Given the description of an element on the screen output the (x, y) to click on. 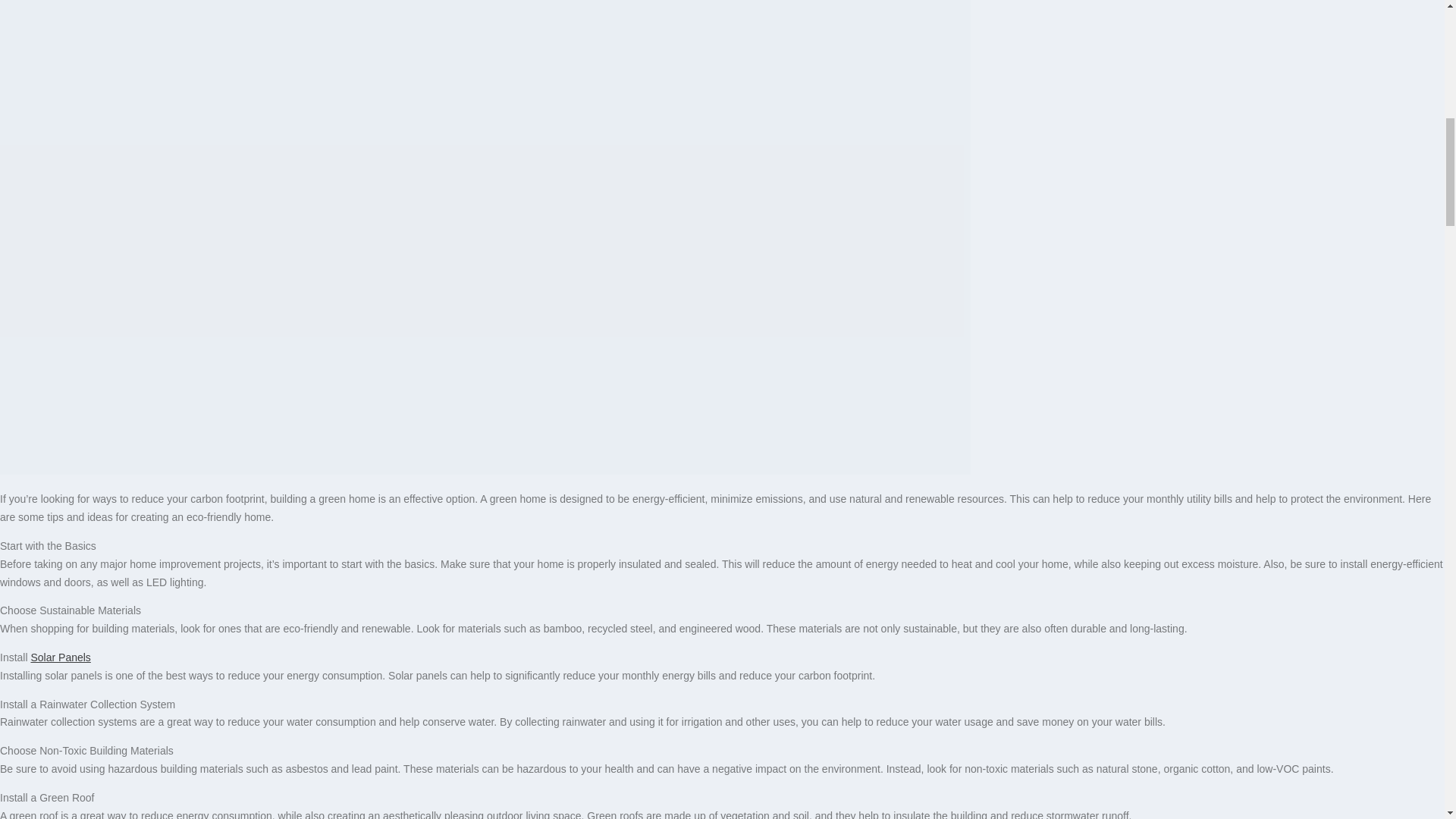
Solar Panels (60, 657)
